Given the description of an element on the screen output the (x, y) to click on. 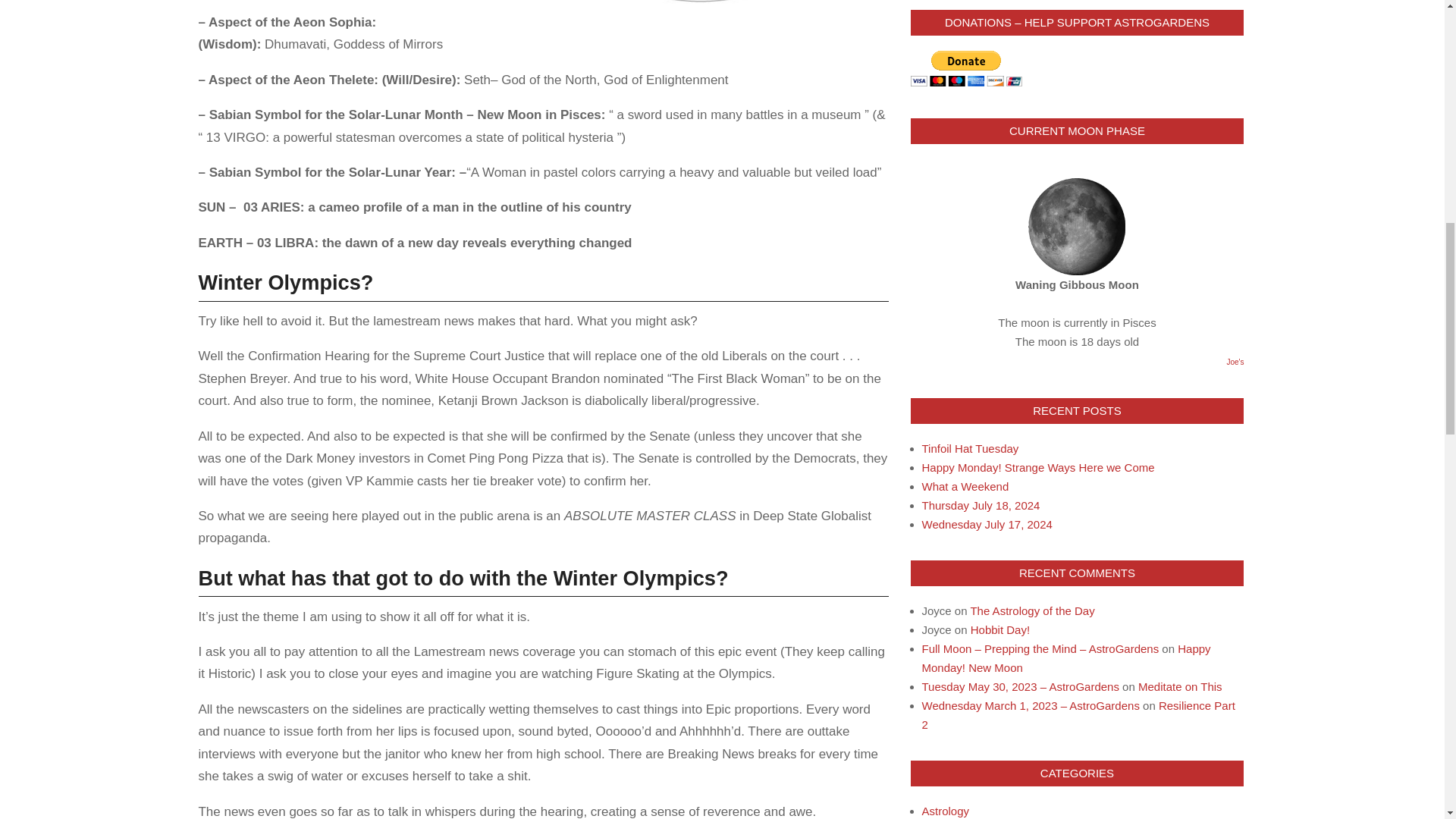
Thursday July 18, 2024 (981, 504)
Hobbit Day! (1000, 629)
Tinfoil Hat Tuesday (970, 448)
Waning Gibbous Moon (1076, 226)
The Astrology of the Day (1031, 610)
What a Weekend (965, 486)
Joe's (1234, 361)
Resilience Part 2 (1077, 715)
Wednesday July 17, 2024 (986, 523)
Meditate on This (1180, 686)
Happy Monday! New Moon (1066, 658)
PayPal - The safer, easier way to pay online! (966, 68)
Happy Monday! Strange Ways Here we Come (1037, 467)
